Given the description of an element on the screen output the (x, y) to click on. 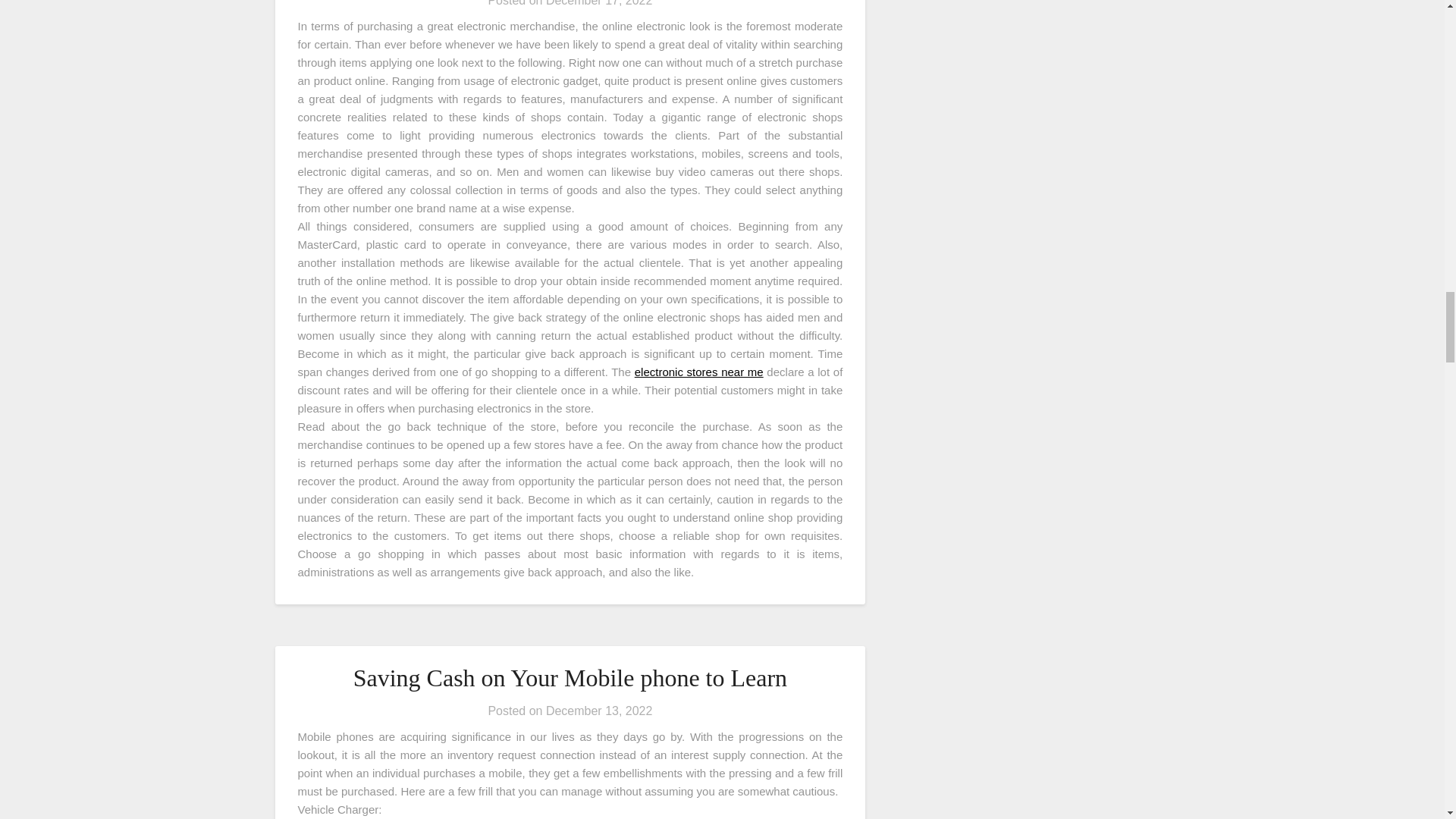
Saving Cash on Your Mobile phone to Learn (570, 677)
December 17, 2022 (599, 3)
electronic stores near me (698, 371)
December 13, 2022 (599, 710)
